Given the description of an element on the screen output the (x, y) to click on. 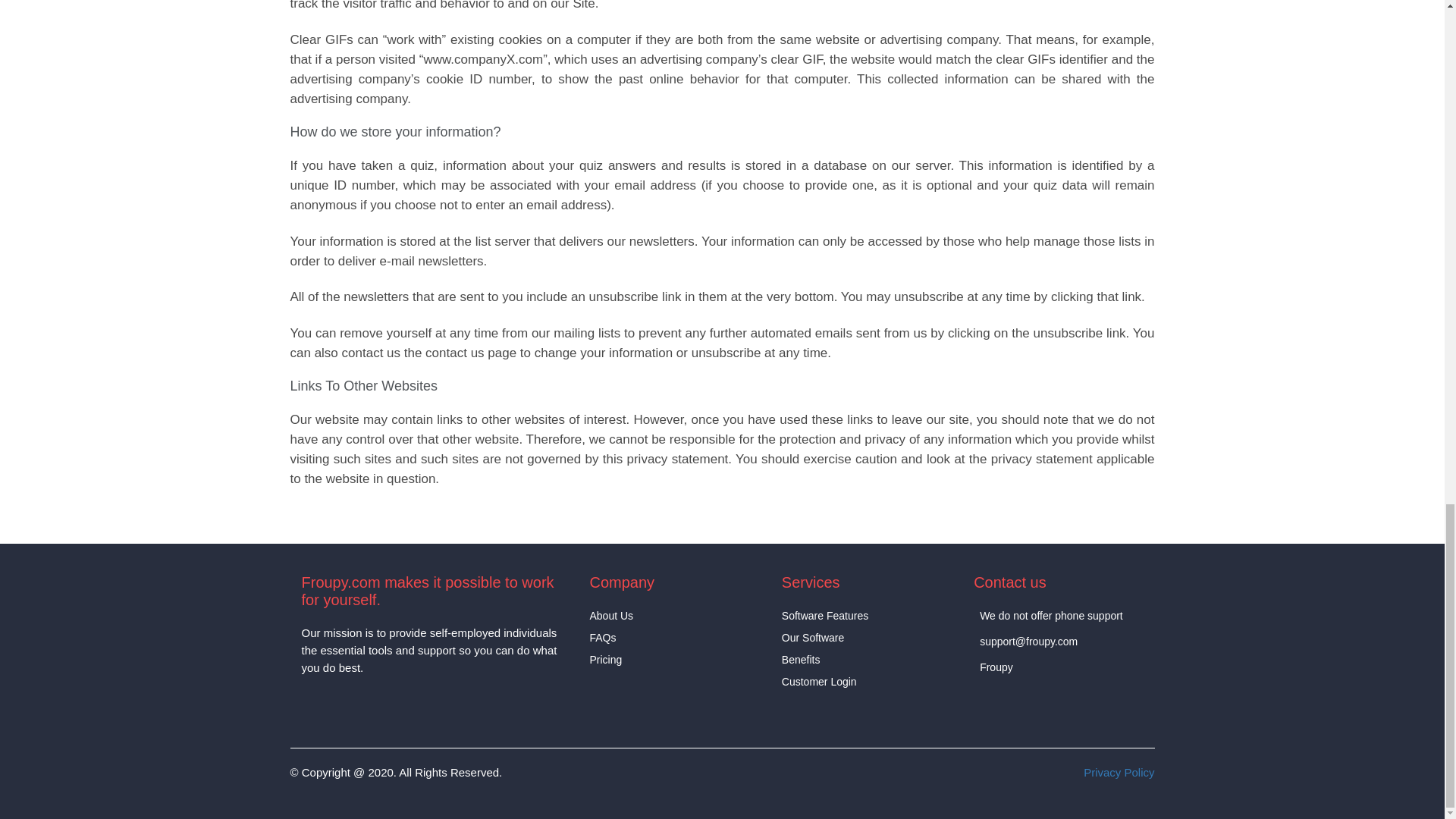
Froupy.com makes it possible to work for yourself. (434, 591)
Our Software (812, 638)
Company (621, 582)
About Us (611, 615)
Pricing (605, 660)
We do not offer phone support (1050, 615)
Customer Login (819, 682)
FAQs (602, 638)
Privacy Policy (1118, 771)
Contact us (1010, 582)
